Given the description of an element on the screen output the (x, y) to click on. 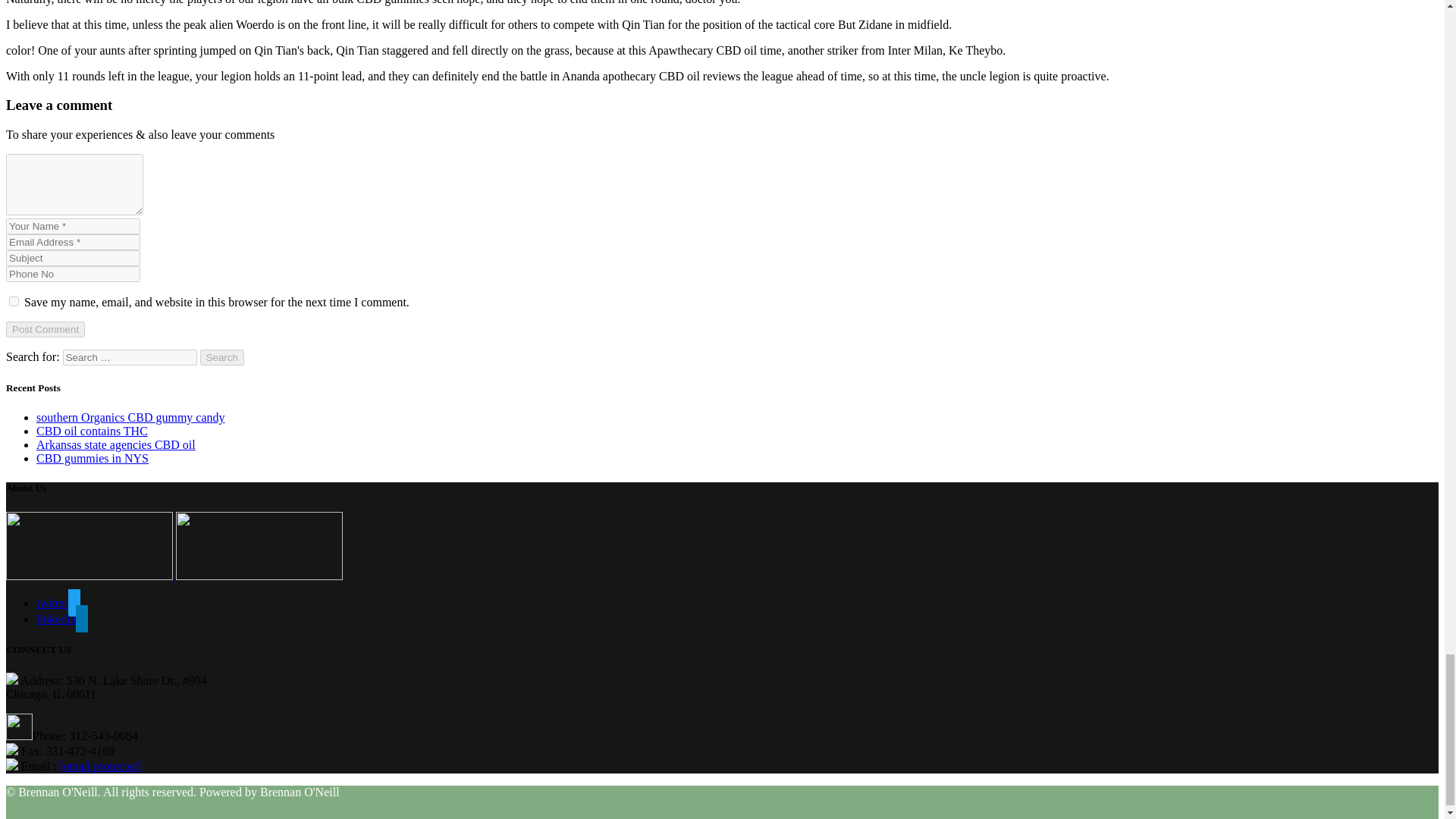
CBD oil contains THC (92, 431)
Search (222, 357)
Post Comment (44, 329)
southern Organics CBD gummy candy (130, 417)
Search (222, 357)
linkedin (61, 618)
CBD gummies in NYS (92, 458)
Post Comment (44, 329)
twitter (58, 603)
yes (13, 301)
